Given the description of an element on the screen output the (x, y) to click on. 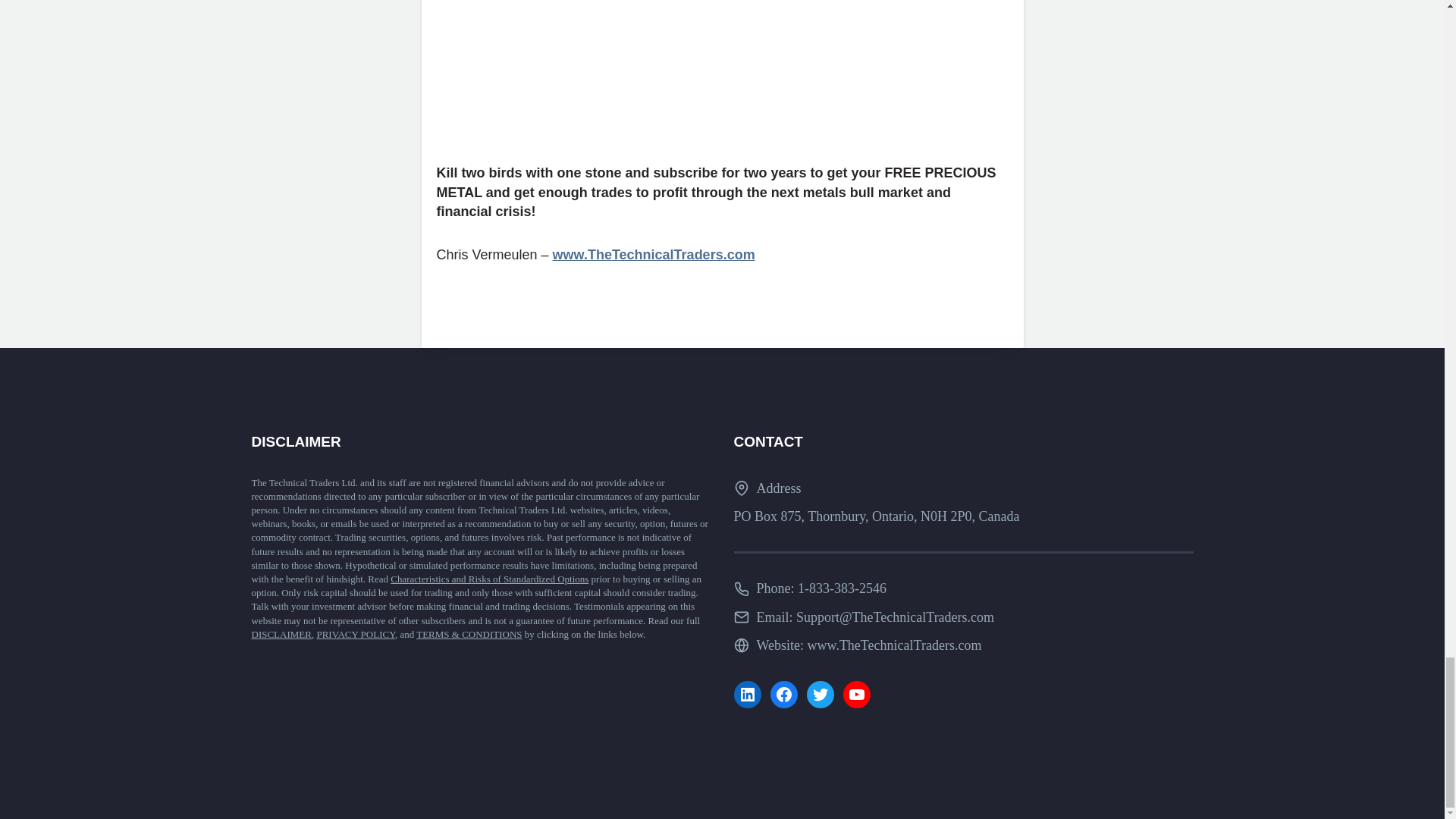
www.TheTechnicalTraders.com (654, 254)
